Given the description of an element on the screen output the (x, y) to click on. 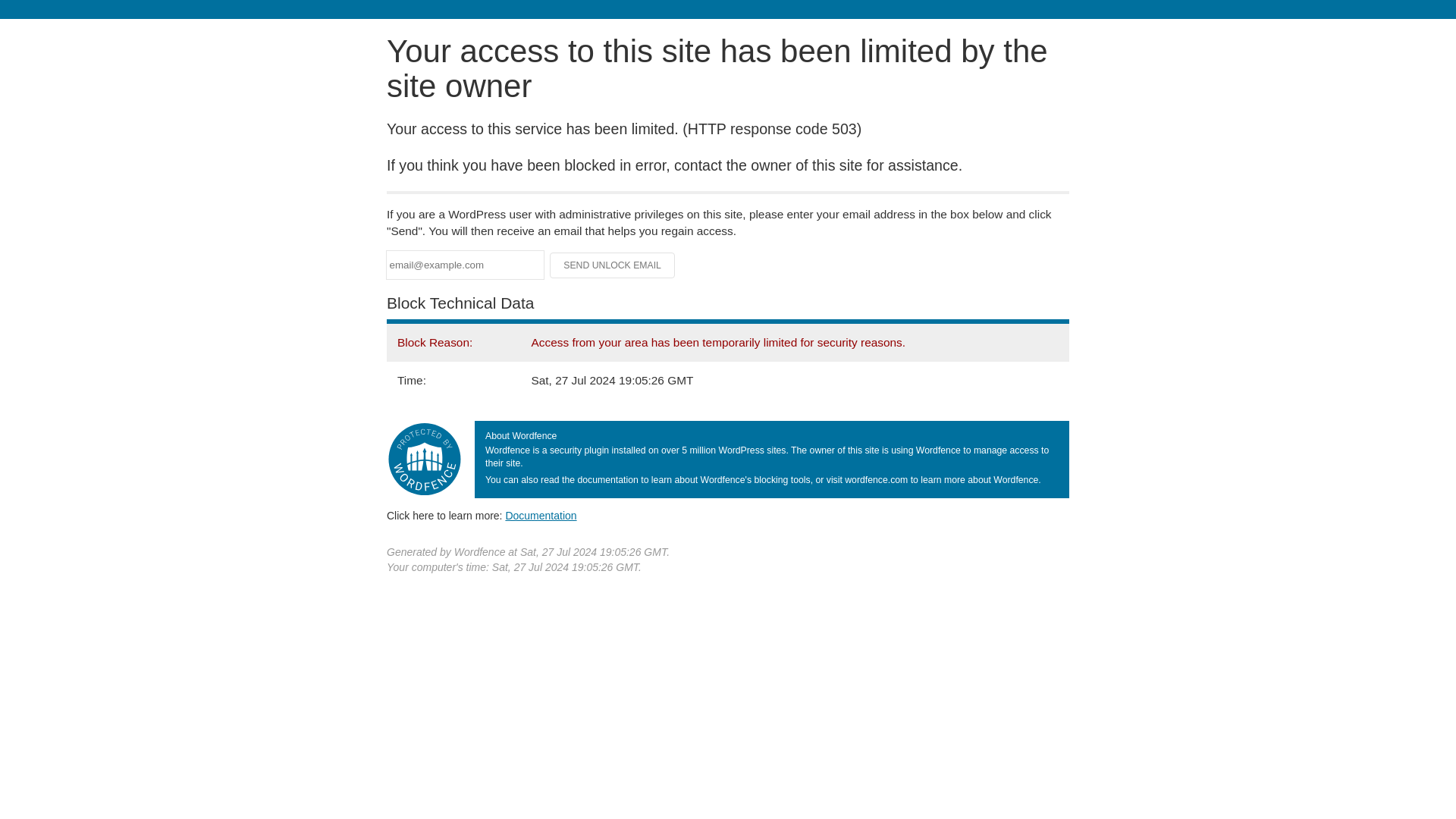
Send Unlock Email (612, 265)
Documentation (540, 515)
Send Unlock Email (612, 265)
